Given the description of an element on the screen output the (x, y) to click on. 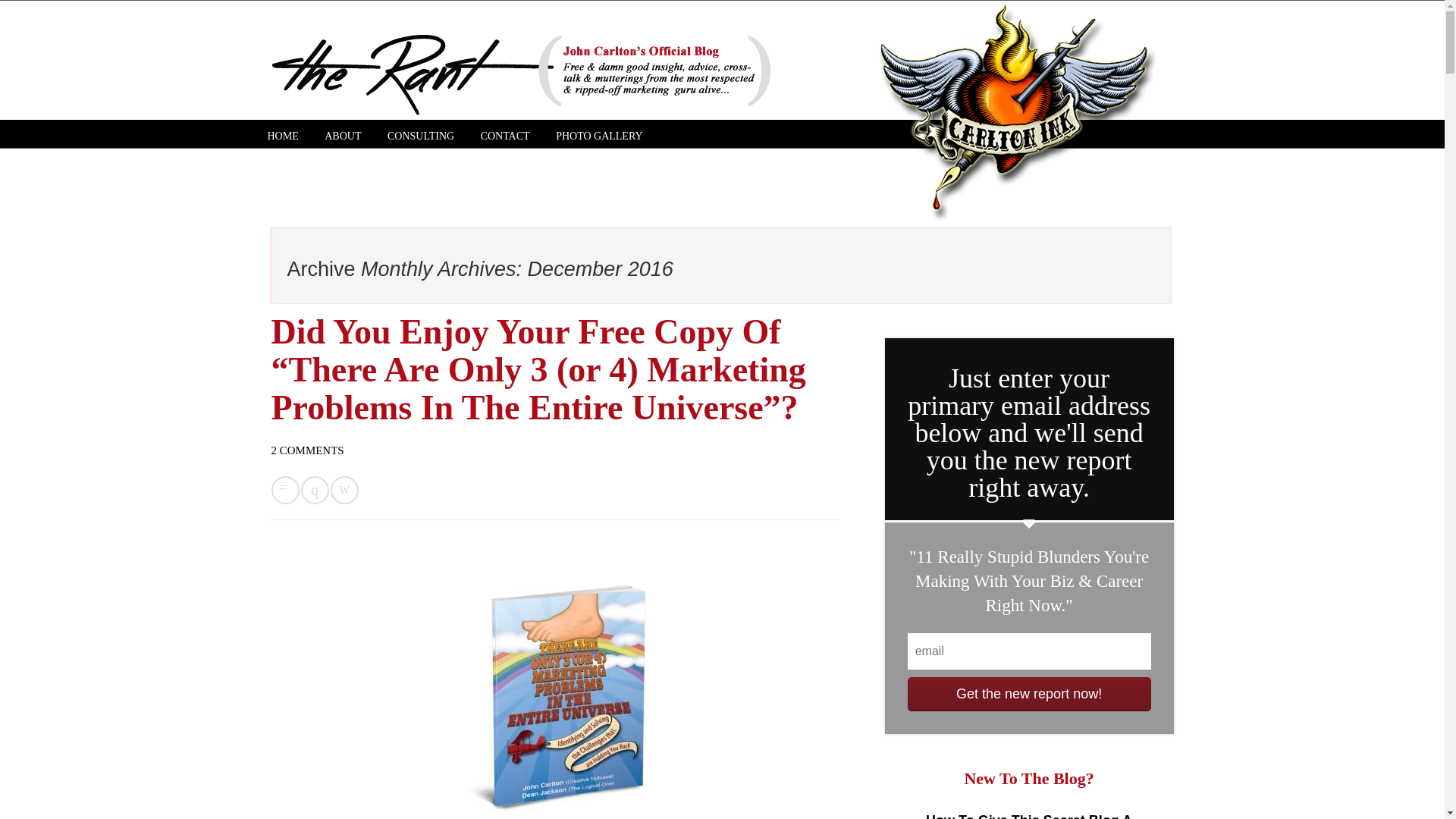
CONSULTING (420, 136)
HOME (282, 136)
Get the new report now! (1029, 694)
2 COMMENTS (306, 450)
ABOUT (342, 136)
CONTACT (504, 136)
PHOTO GALLERY (599, 136)
